Given the description of an element on the screen output the (x, y) to click on. 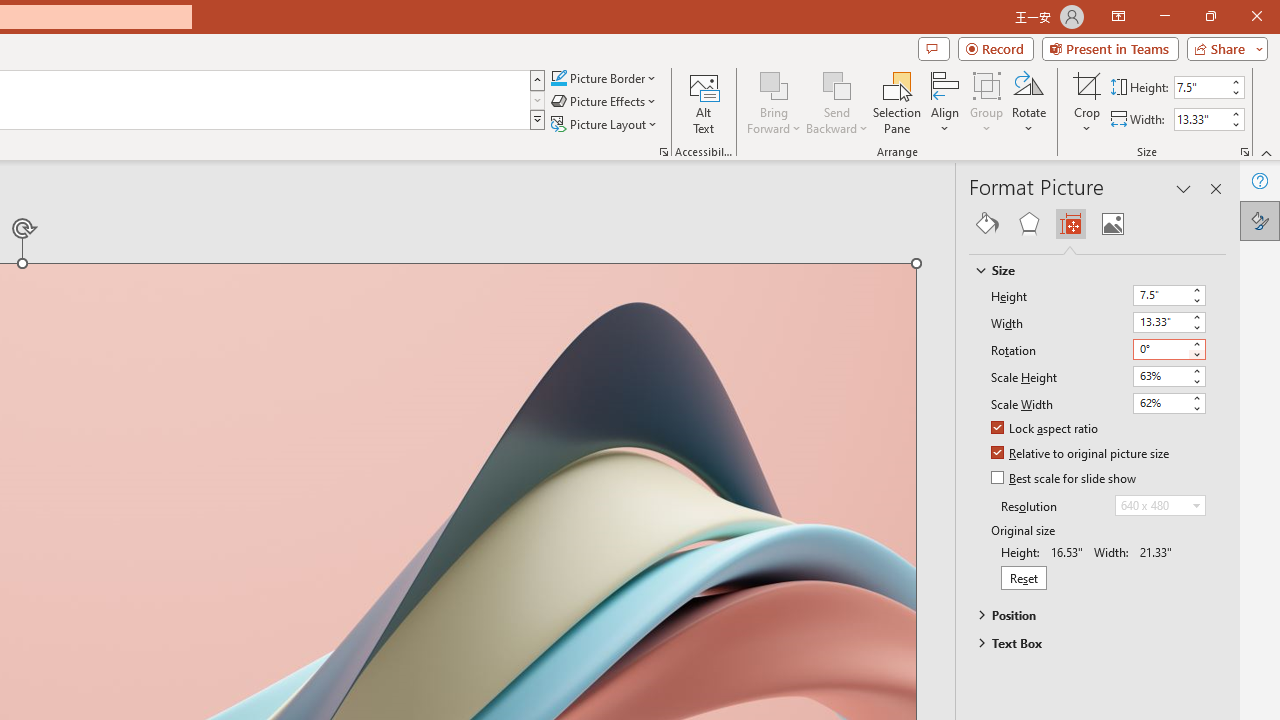
Crop (1087, 84)
Format Picture (1260, 220)
Width (1160, 322)
Send Backward (836, 102)
Shape Height (1201, 87)
Size (1088, 269)
Group (987, 102)
Class: NetUIGalleryContainer (1098, 223)
Resolution (1159, 505)
Size & Properties (1070, 223)
